Given the description of an element on the screen output the (x, y) to click on. 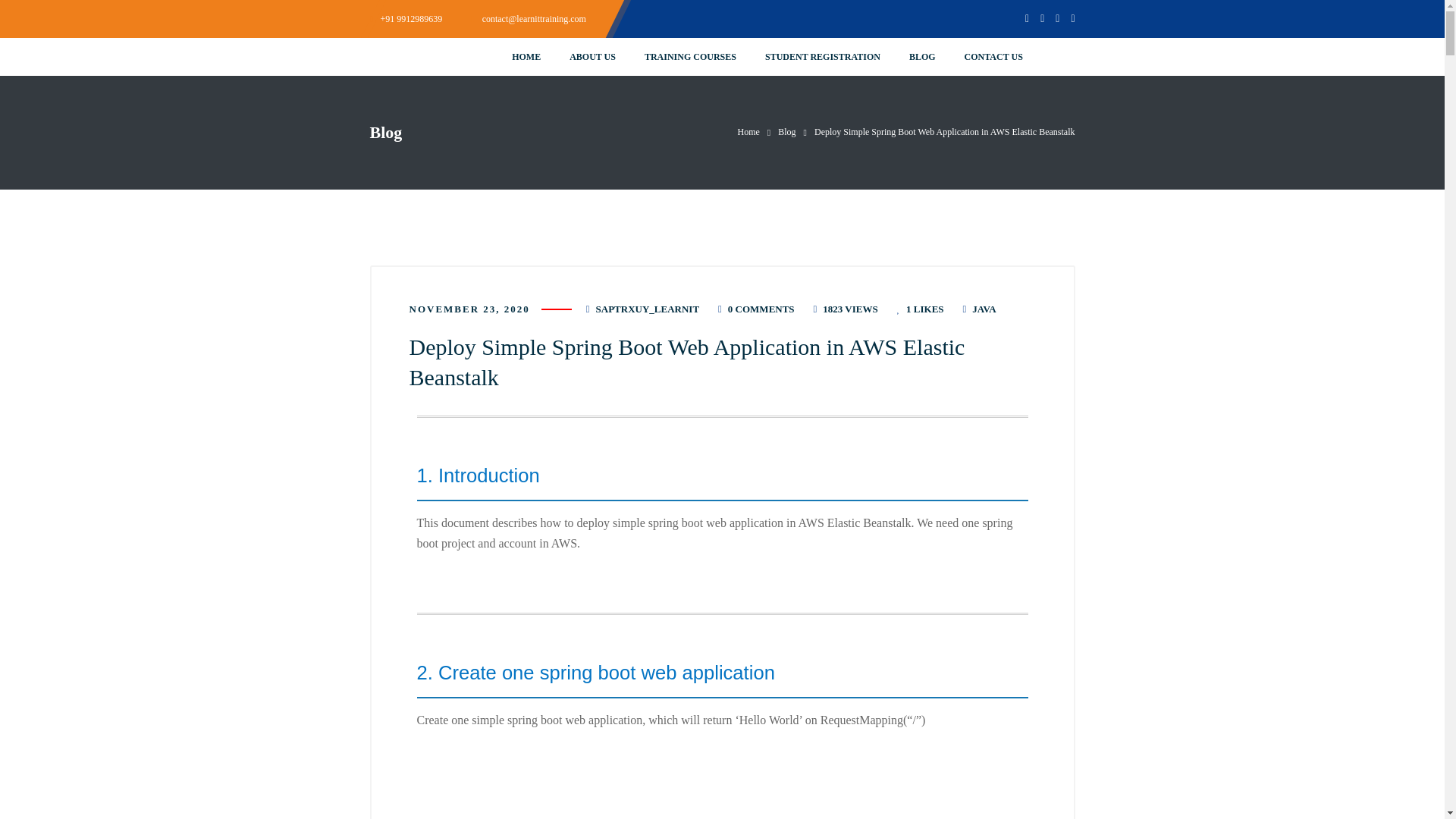
STUDENT REGISTRATION (822, 56)
Blog (785, 131)
CONTACT US (993, 56)
Home (749, 131)
TRAINING COURSES (690, 56)
Learn It Training (749, 131)
JAVA (983, 308)
ABOUT US (592, 56)
Blog (785, 131)
